Given the description of an element on the screen output the (x, y) to click on. 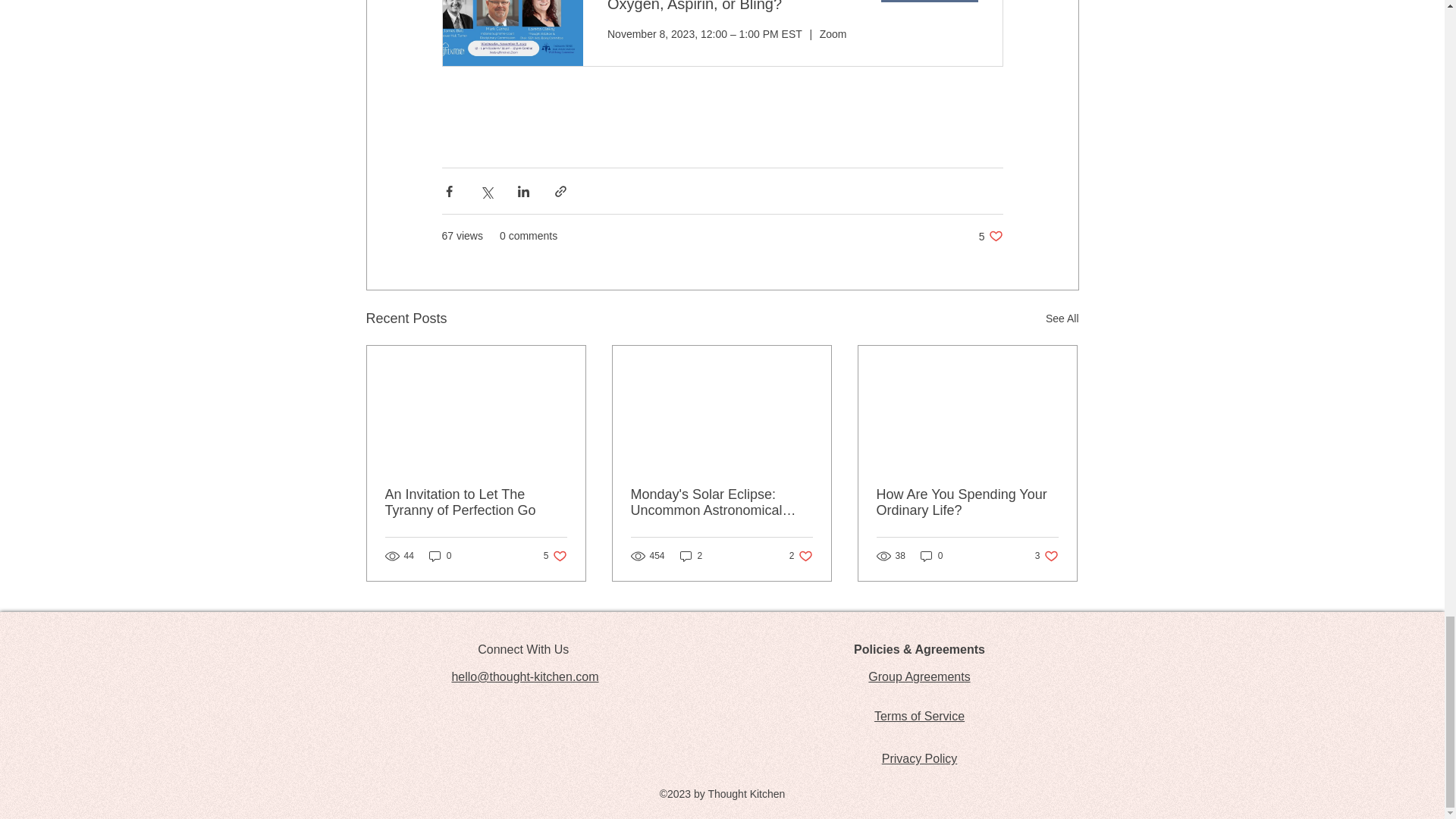
0 (931, 555)
0 (1046, 555)
An Invitation to Let The Tyranny of Perfection Go (440, 555)
How Are You Spending Your Ordinary Life? (990, 236)
2 (476, 502)
See All (967, 502)
